Given the description of an element on the screen output the (x, y) to click on. 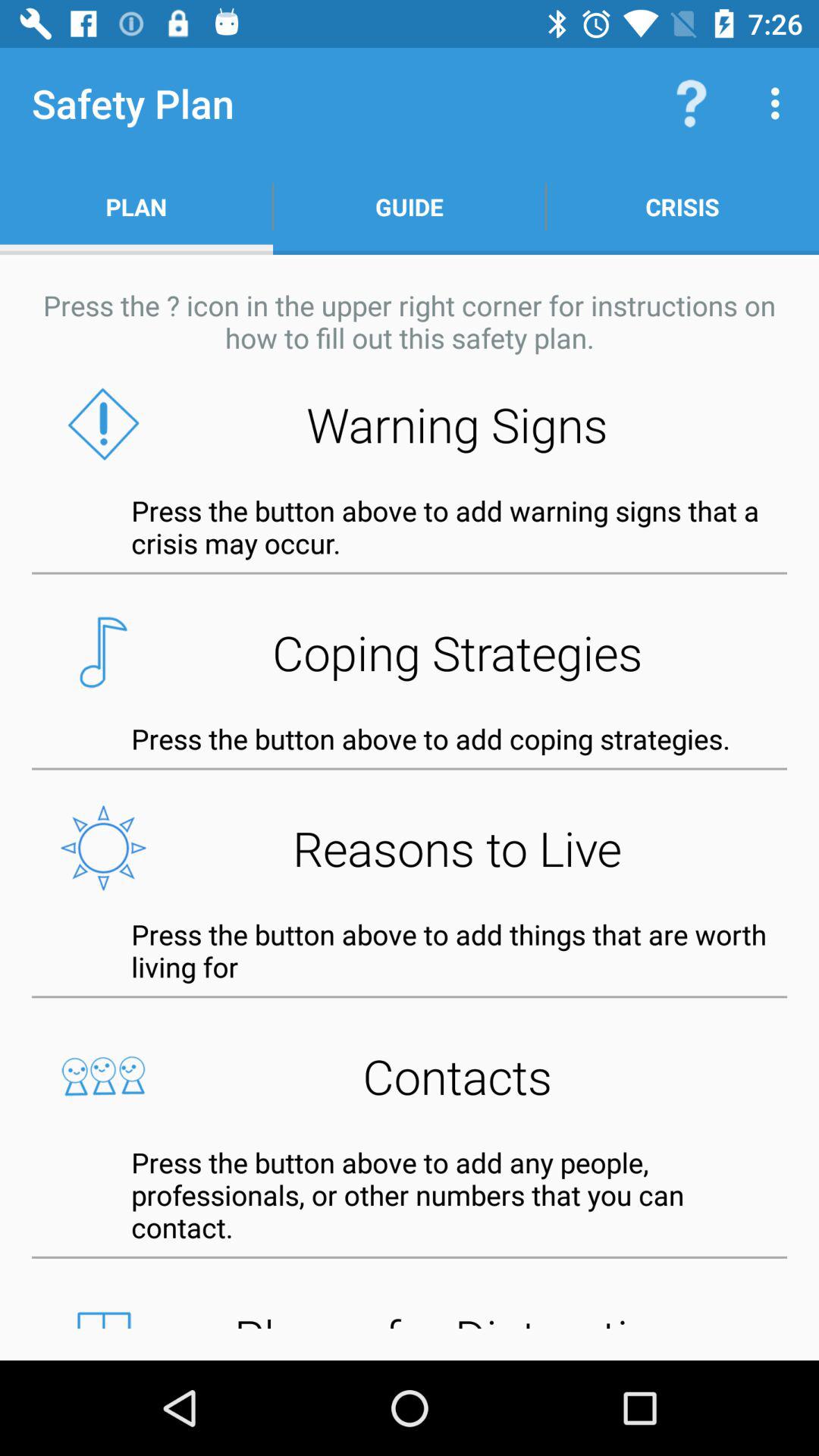
jump to the reasons to live button (409, 847)
